Given the description of an element on the screen output the (x, y) to click on. 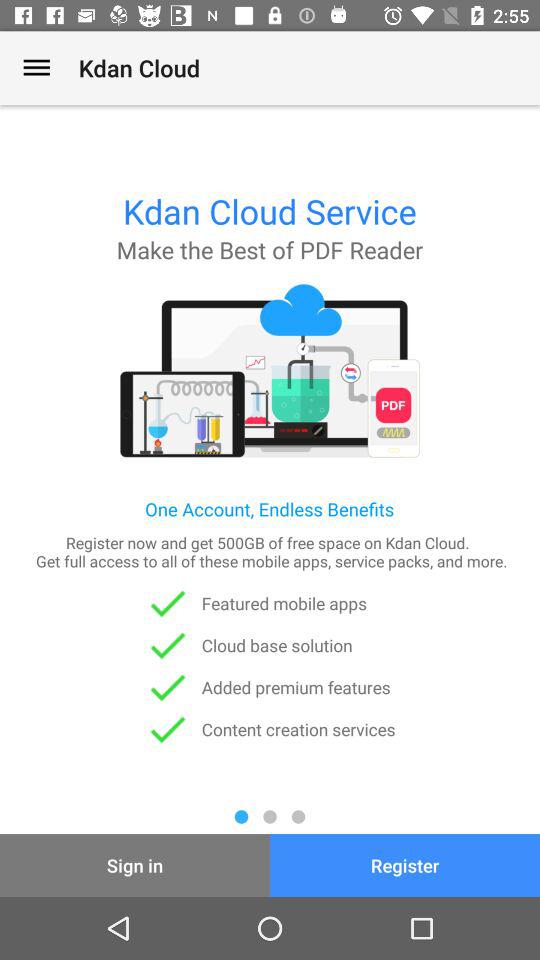
select item at the bottom left corner (135, 864)
